Given the description of an element on the screen output the (x, y) to click on. 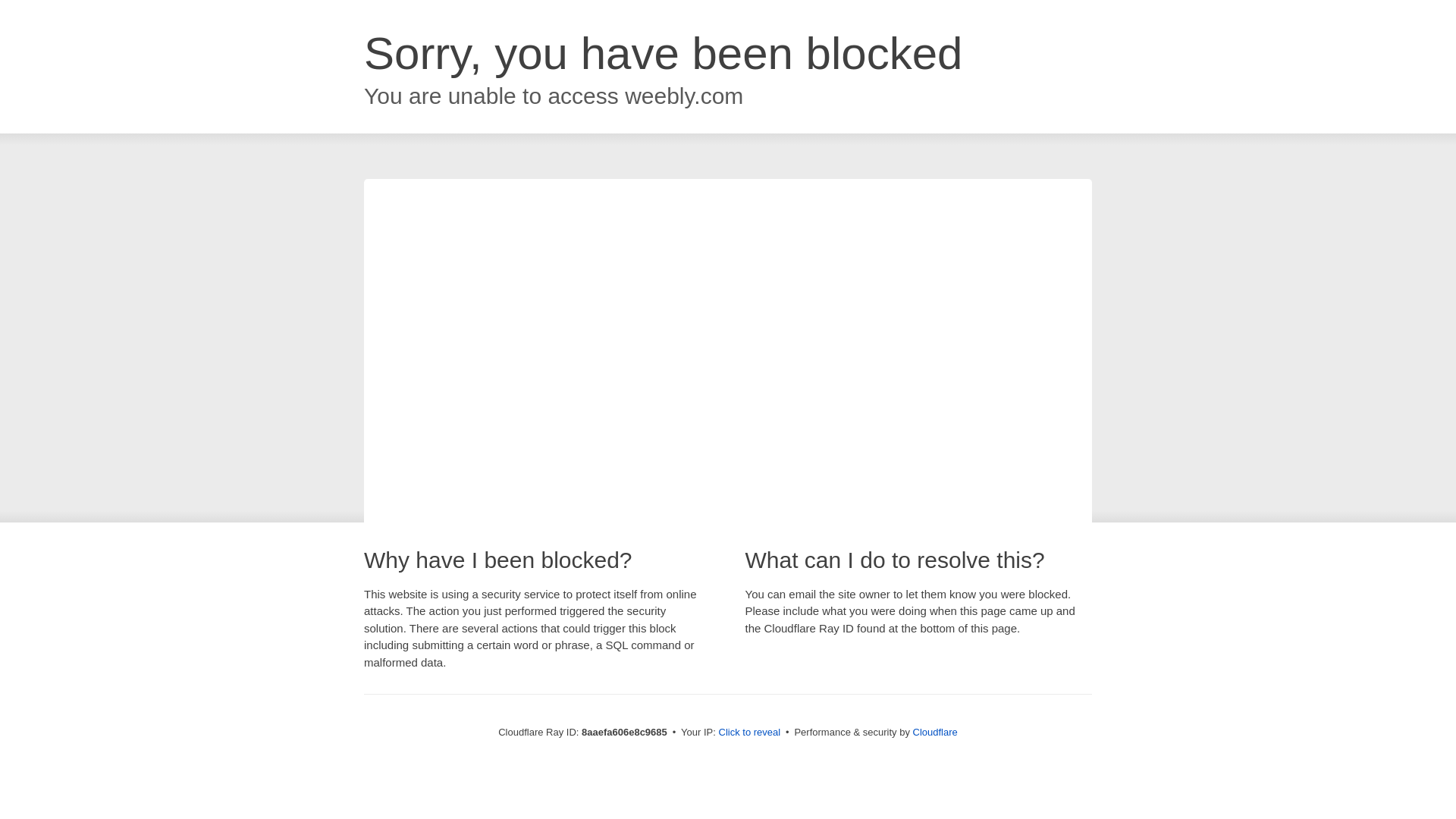
Cloudflare (935, 731)
Click to reveal (749, 732)
